Given the description of an element on the screen output the (x, y) to click on. 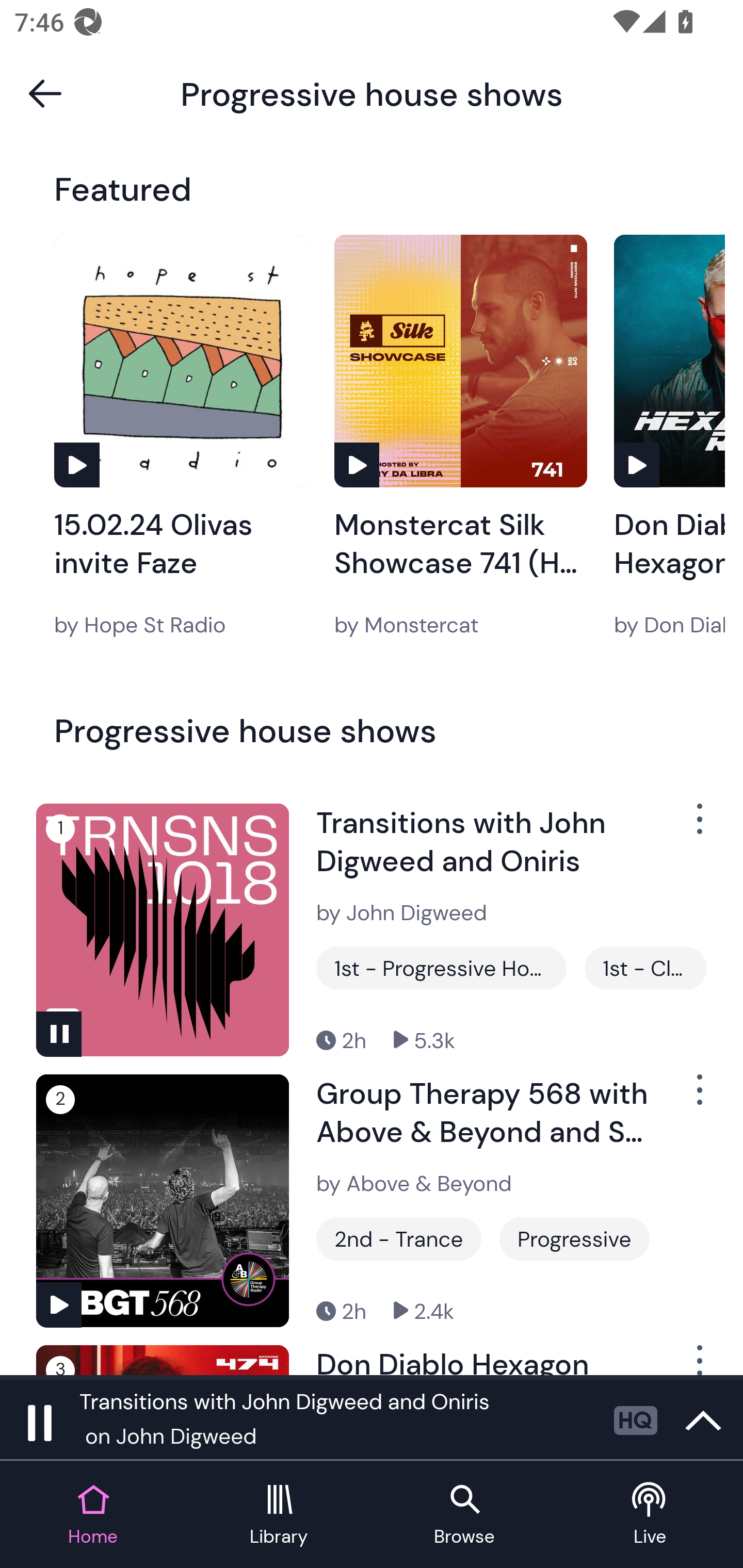
Show Options Menu Button (697, 825)
1st - Progressive House (441, 968)
1st - Club (645, 968)
Show Options Menu Button (697, 1097)
2nd - Trance (398, 1238)
Progressive (574, 1238)
Show Options Menu Button (697, 1360)
Home tab Home (92, 1515)
Library tab Library (278, 1515)
Browse tab Browse (464, 1515)
Live tab Live (650, 1515)
